Given the description of an element on the screen output the (x, y) to click on. 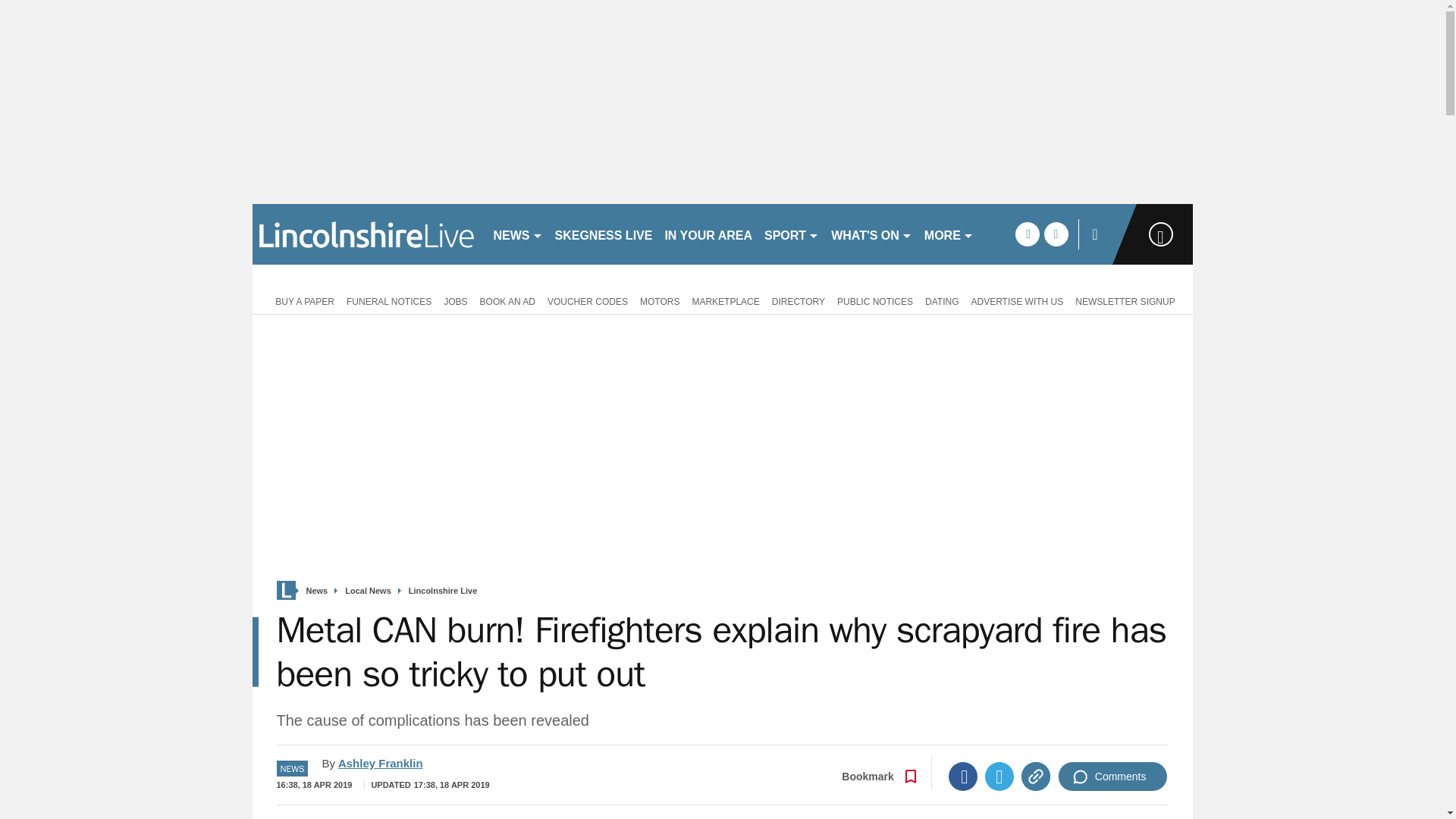
MORE (948, 233)
lincolnshirelive (365, 233)
Twitter (999, 776)
twitter (1055, 233)
Comments (1112, 776)
NEWS (517, 233)
facebook (1026, 233)
IN YOUR AREA (708, 233)
WHAT'S ON (871, 233)
BUY A PAPER (301, 300)
